Given the description of an element on the screen output the (x, y) to click on. 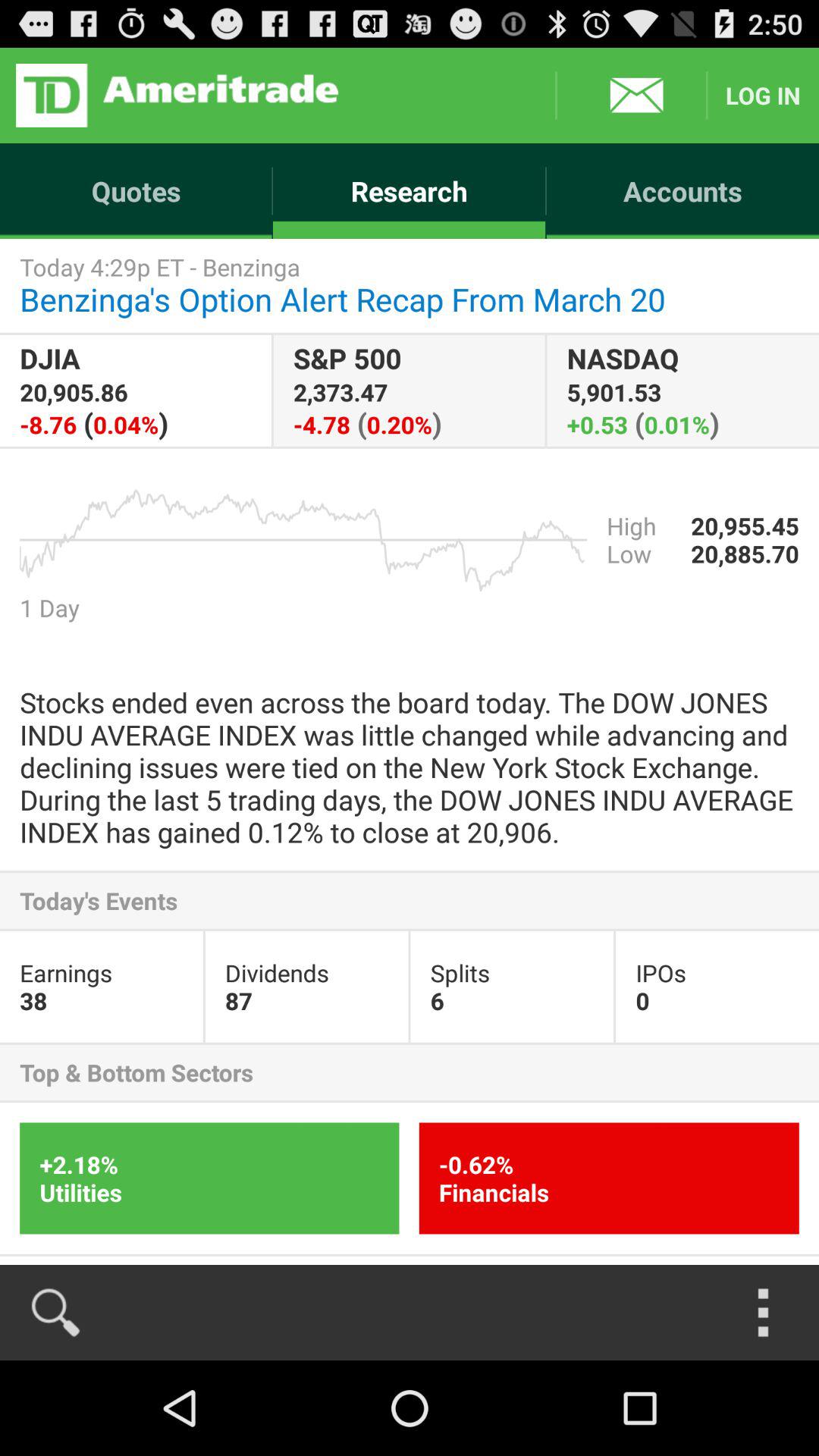
jump to s p 500 (408, 390)
